Given the description of an element on the screen output the (x, y) to click on. 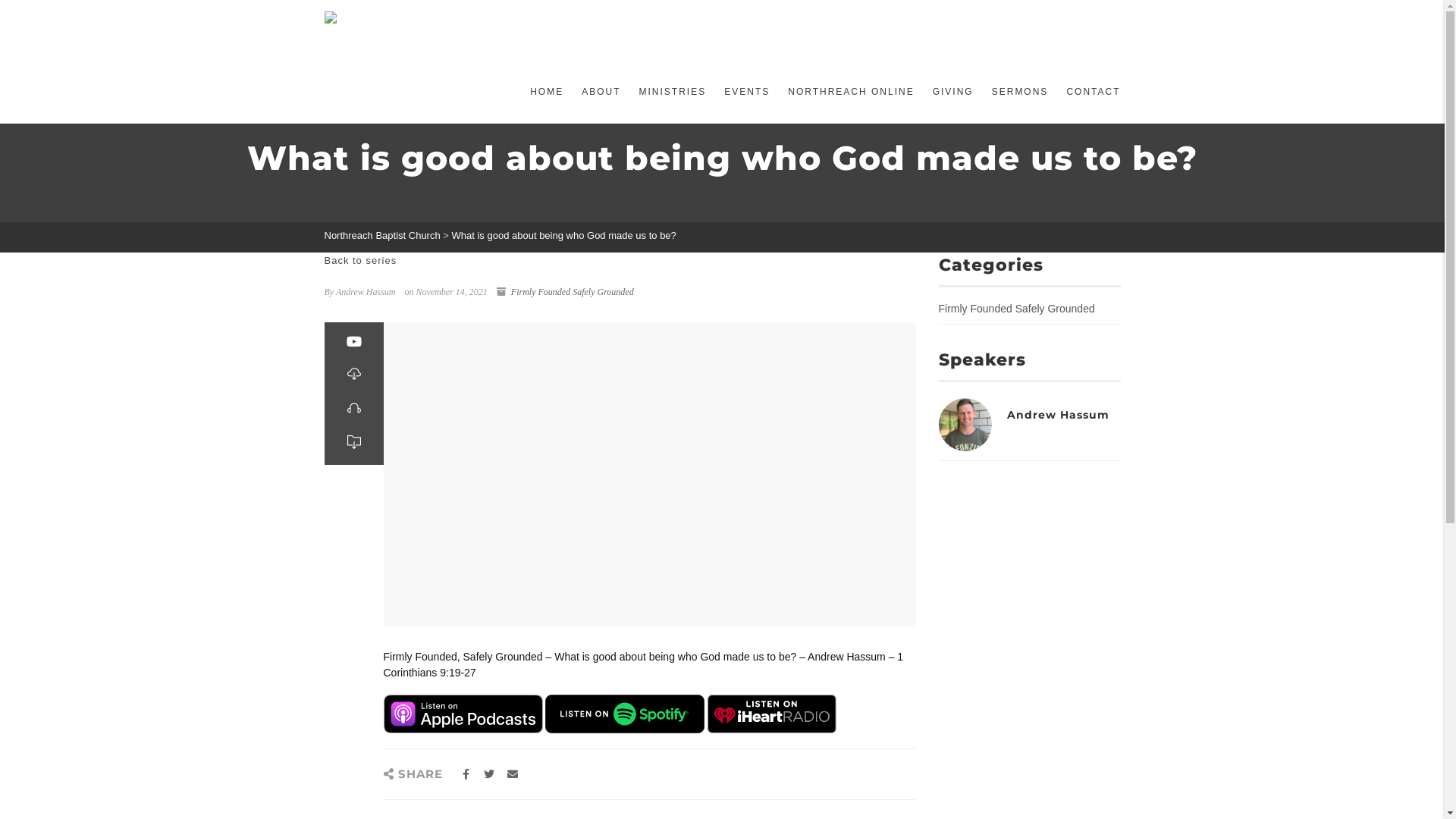
Email Element type: hover (512, 773)
EVENTS Element type: text (746, 91)
NORTHREACH ONLINE Element type: text (850, 91)
ABOUT Element type: text (600, 91)
Back to series Element type: text (360, 260)
Northreach Baptist Church Element type: hover (536, 30)
Firmly Founded Safely Grounded Element type: text (1016, 308)
GIVING Element type: text (952, 91)
Northreach Baptist Church Element type: text (382, 235)
CONTACT Element type: text (1088, 91)
HOME Element type: text (546, 91)
SERMONS Element type: text (1019, 91)
Tweet Element type: hover (488, 773)
MINISTRIES Element type: text (672, 91)
Andrew Hassum Element type: text (1058, 414)
Share on Facebook Element type: hover (465, 773)
Firmly Founded Safely Grounded Element type: text (572, 291)
